Given the description of an element on the screen output the (x, y) to click on. 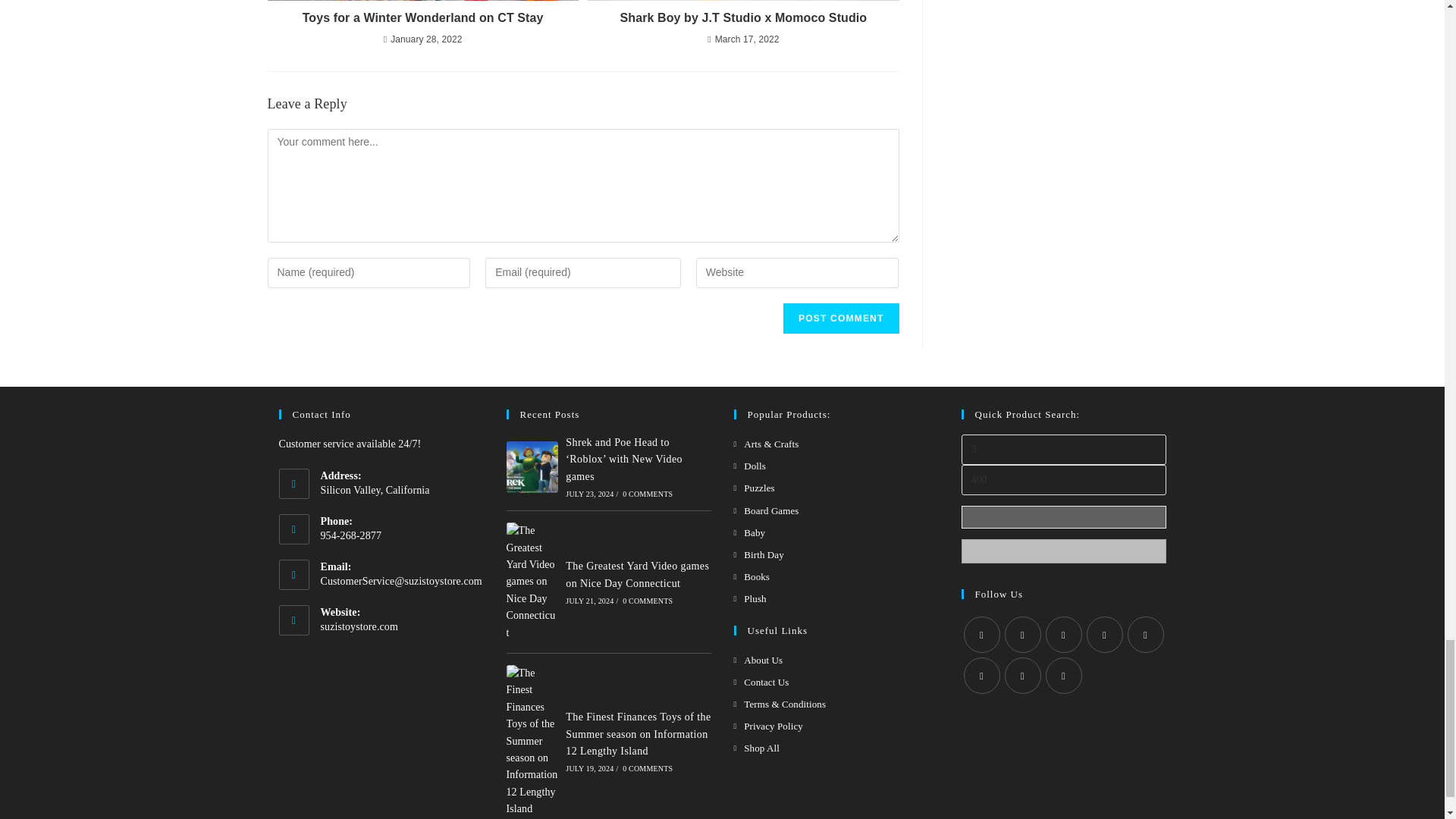
Post Comment (840, 318)
400 (1063, 480)
3 (1063, 449)
